Given the description of an element on the screen output the (x, y) to click on. 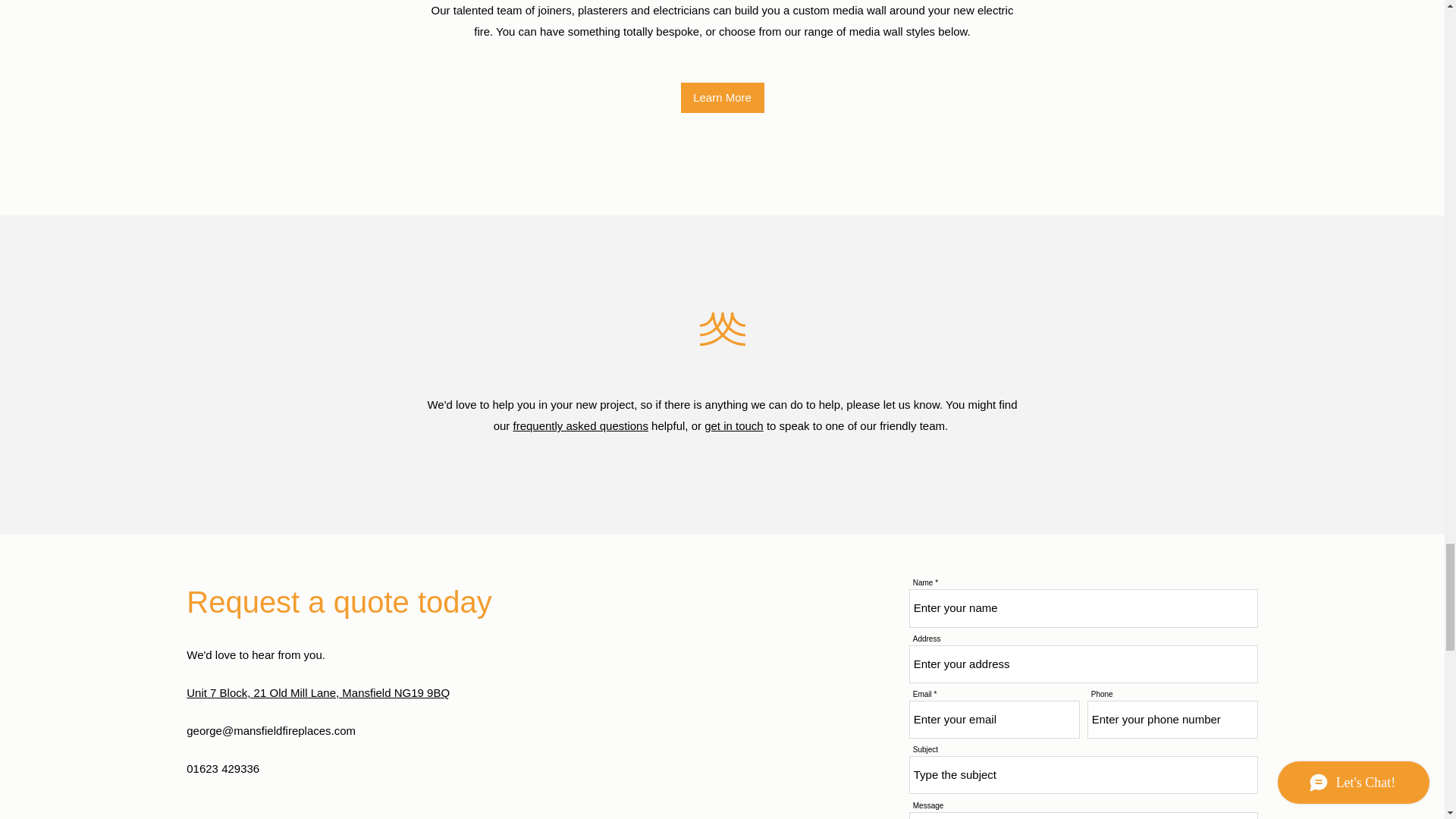
Learn More (722, 97)
frequently asked questions (579, 425)
Unit 7 Block, 21 Old Mill Lane, Mansfield NG19 9BQ (317, 692)
get in touch (733, 425)
